Given the description of an element on the screen output the (x, y) to click on. 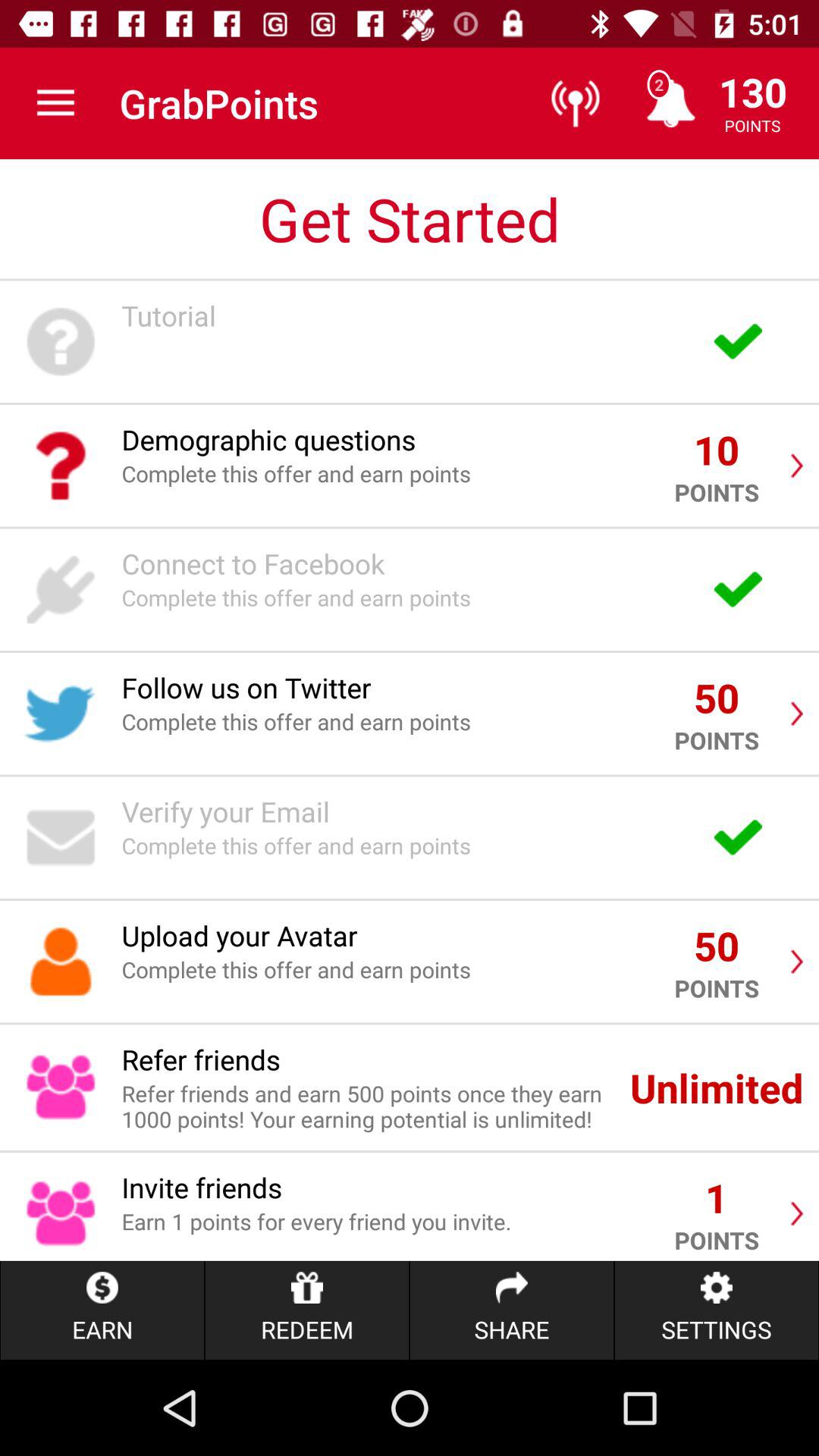
tap settings icon (716, 1310)
